Given the description of an element on the screen output the (x, y) to click on. 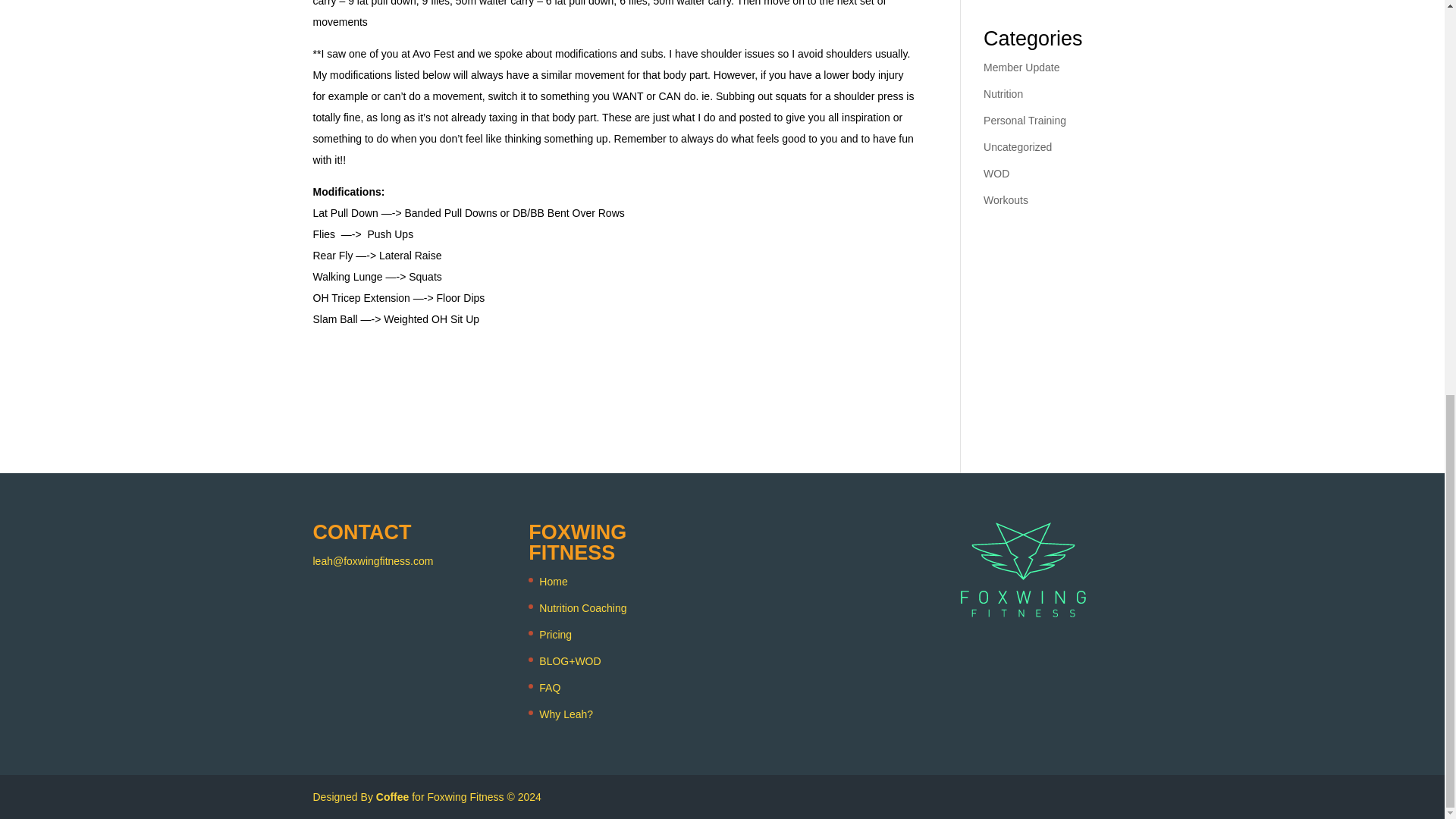
Home (552, 581)
Coffee (392, 797)
Why Leah? (565, 714)
FAQ (549, 687)
WOD (996, 173)
Member Update (1021, 67)
Workouts (1005, 200)
Commit Yourself To Your Health (1041, 0)
Uncategorized (1017, 146)
Nutrition (1003, 93)
